Given the description of an element on the screen output the (x, y) to click on. 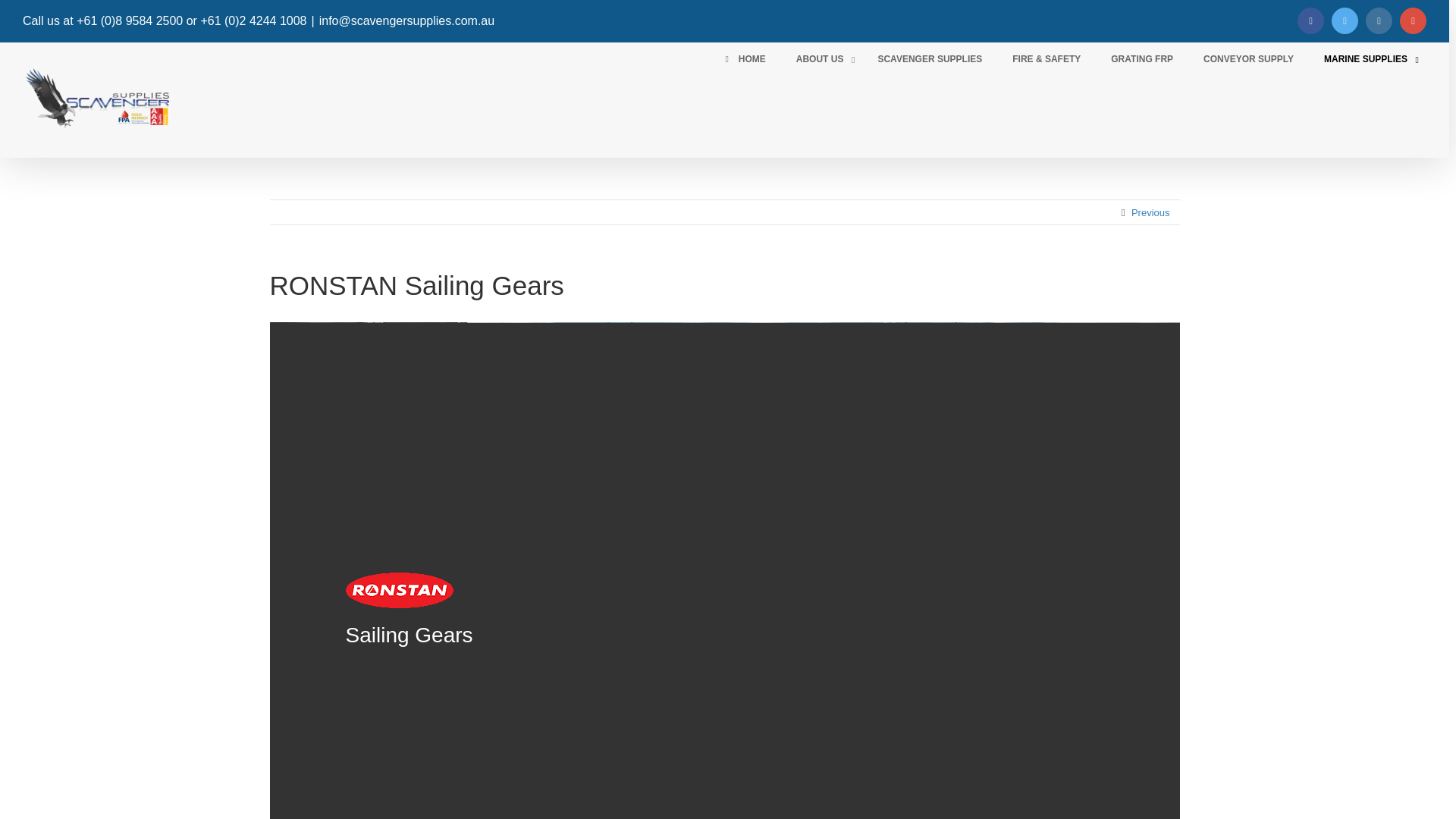
SCAVENGER SUPPLIES (929, 59)
CONVEYOR SUPPLY (1248, 59)
Facebook (1310, 20)
HOME (743, 59)
Instagram (1378, 20)
Twitter (1345, 20)
Previous (1150, 212)
ABOUT US (821, 59)
MARINE SUPPLIES (1367, 59)
GRATING FRP (1142, 59)
Twitter (1345, 20)
Instagram (1378, 20)
Facebook (1310, 20)
RONSTAN Sailing Gears (399, 590)
